Given the description of an element on the screen output the (x, y) to click on. 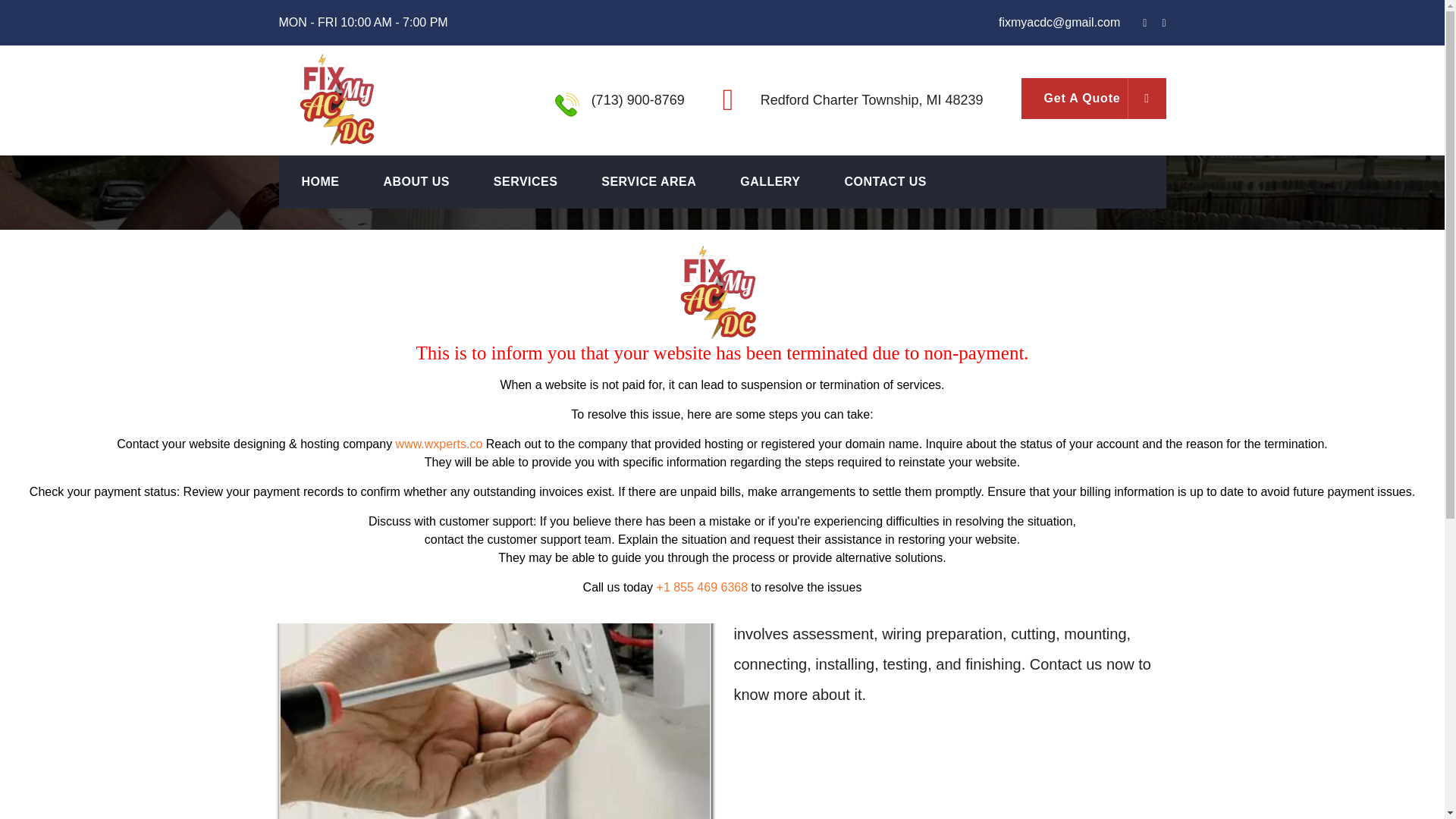
HOME (320, 181)
Redford Charter Township, MI 48239 (872, 99)
Get A Quote (1094, 97)
www.wxperts.co (439, 443)
SERVICES (525, 181)
ABOUT US (415, 181)
